Given the description of an element on the screen output the (x, y) to click on. 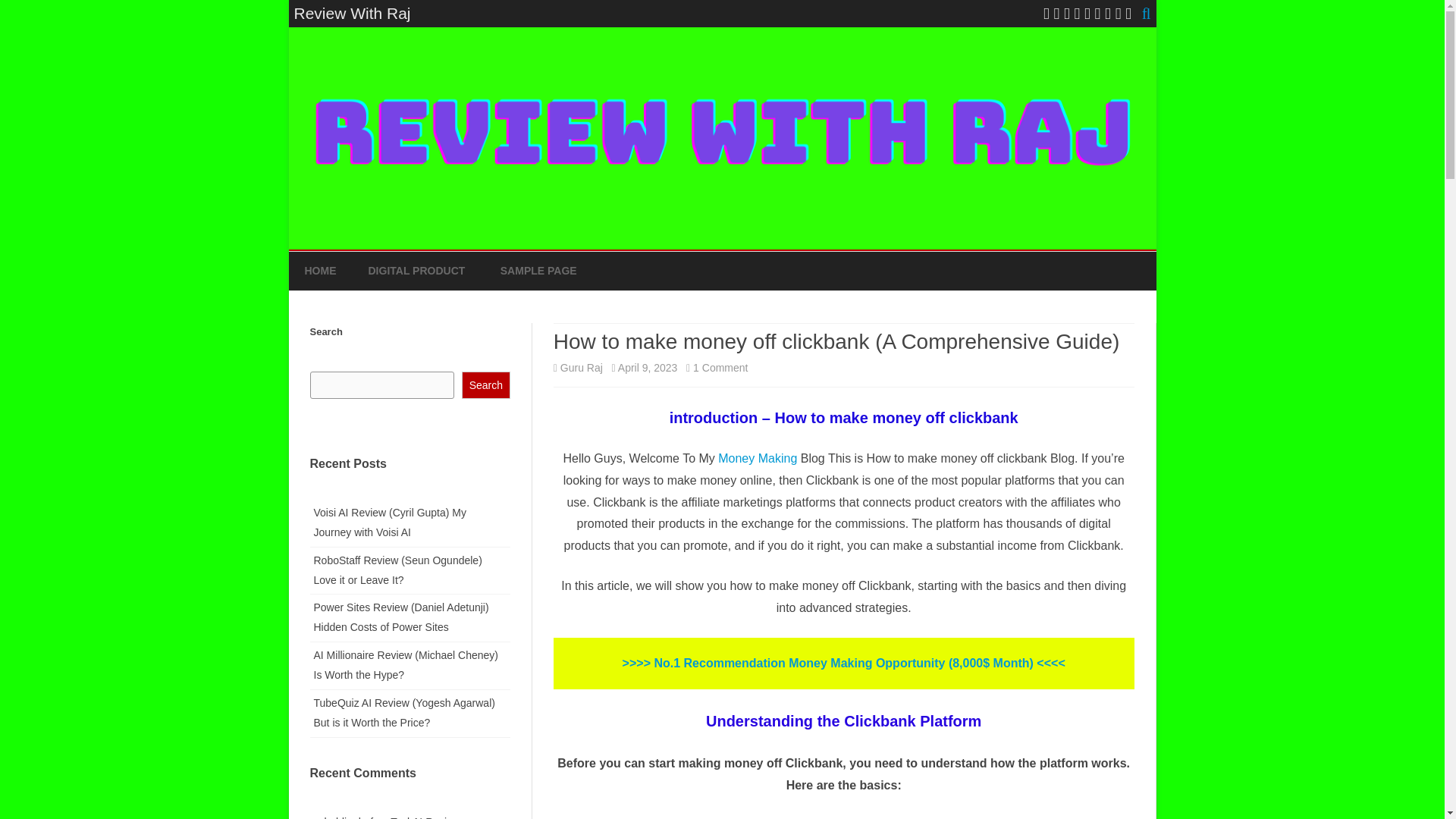
Money Making (757, 458)
SAMPLE PAGE (538, 271)
DIGITAL PRODUCT (416, 271)
Guru Raj (581, 367)
